Given the description of an element on the screen output the (x, y) to click on. 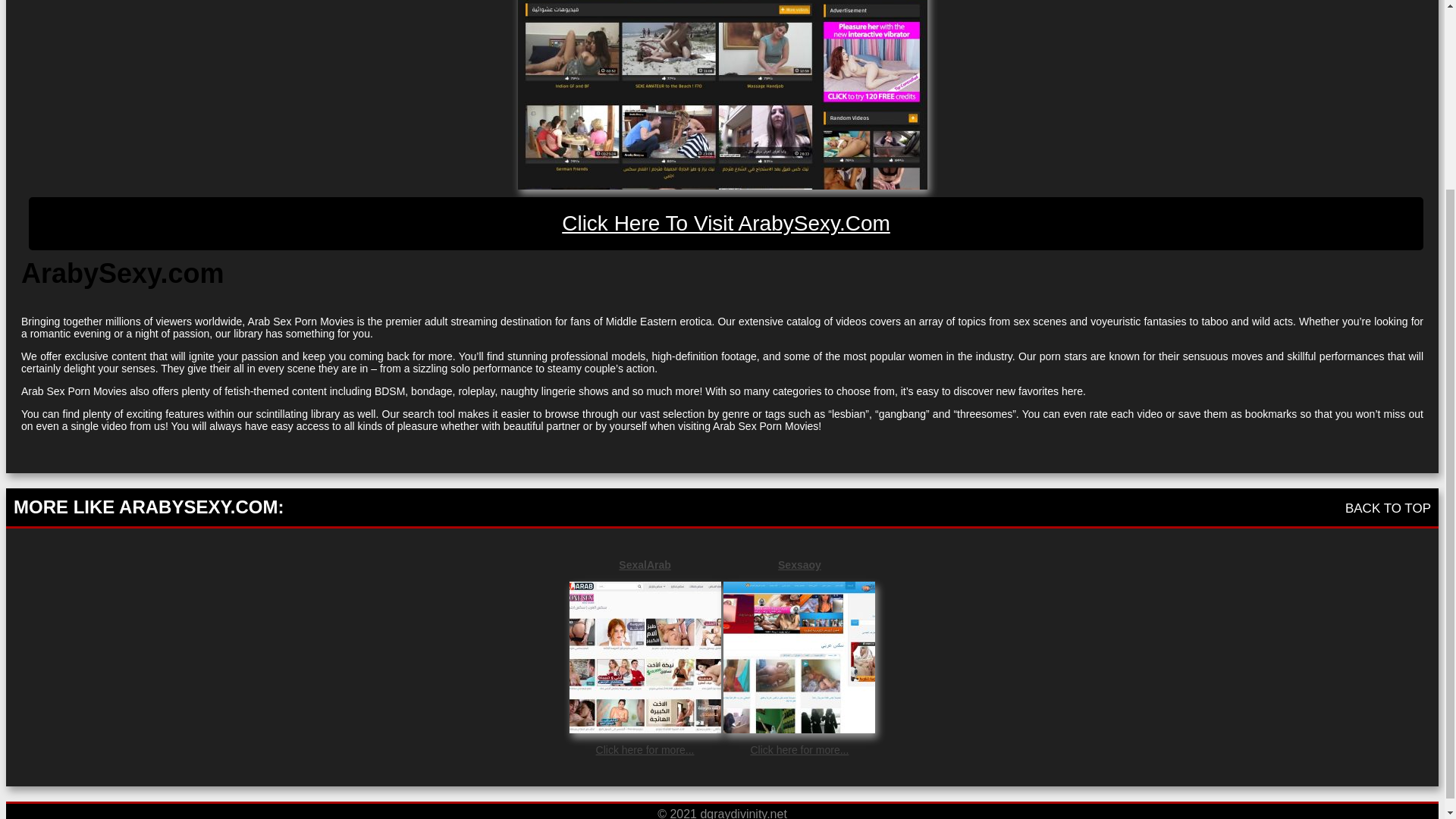
Click Here To Visit ArabySexy.Com (726, 223)
SexalArab (644, 564)
BACK TO TOP (1388, 508)
Sexsaoy (799, 564)
Click here for more... (644, 749)
ArabySexy.com (726, 223)
ArabySexy.com (721, 94)
Click here for more... (798, 749)
